Given the description of an element on the screen output the (x, y) to click on. 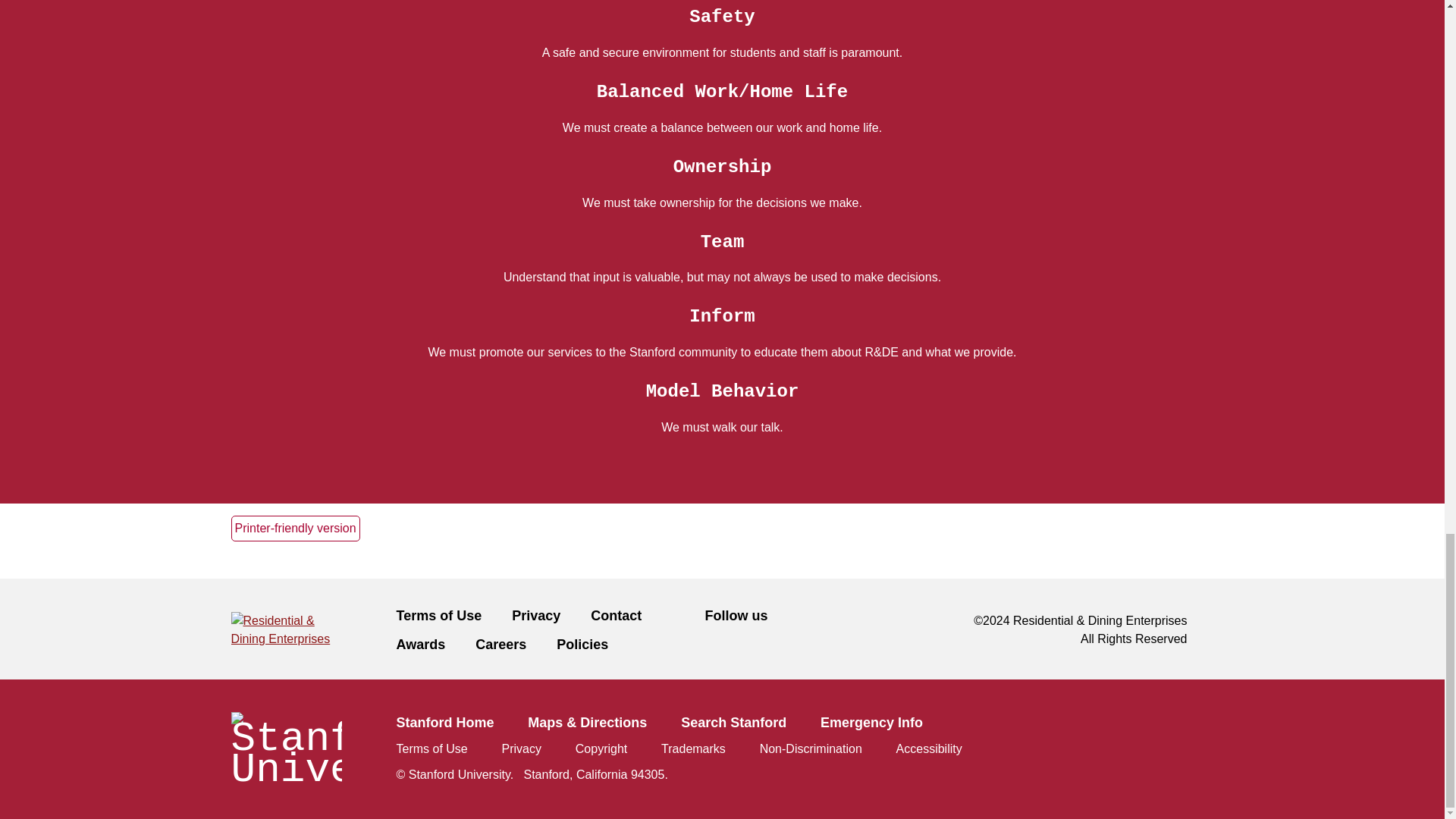
Ownership and use of Stanford trademarks and images (693, 748)
Non-discrimination policy (810, 748)
Terms of Use (454, 615)
Printer-friendly version (294, 528)
Privacy (551, 615)
Report alleged copyright infringement (601, 748)
Common Stanford resources (721, 748)
Privacy and cookie policy (521, 748)
Report web accessibility issues (929, 748)
Terms of use for sites (431, 748)
